Given the description of an element on the screen output the (x, y) to click on. 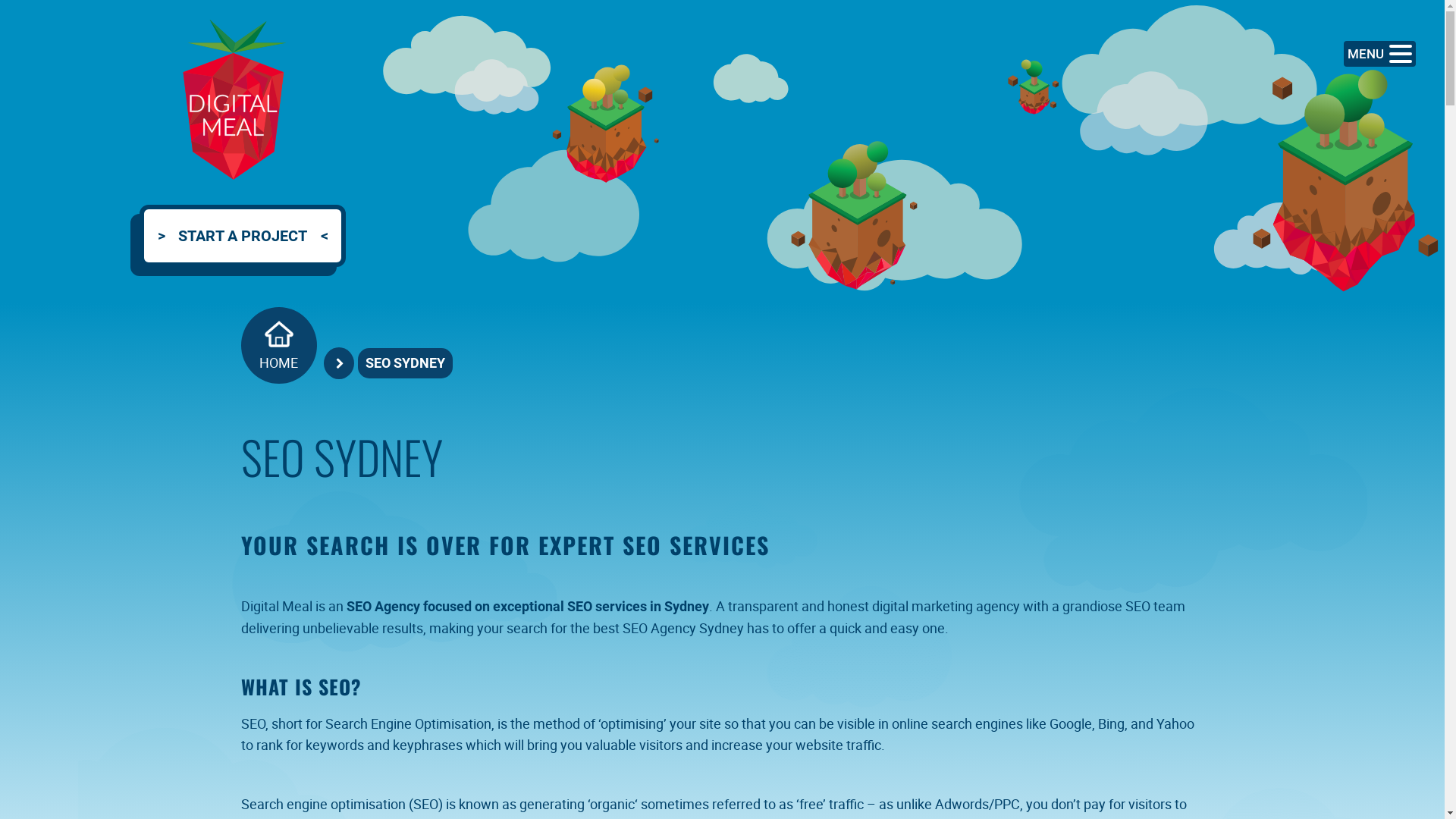
START A PROJECT Element type: text (233, 244)
HOME Element type: text (278, 345)
SEO SYDNEY Element type: text (404, 363)
